Given the description of an element on the screen output the (x, y) to click on. 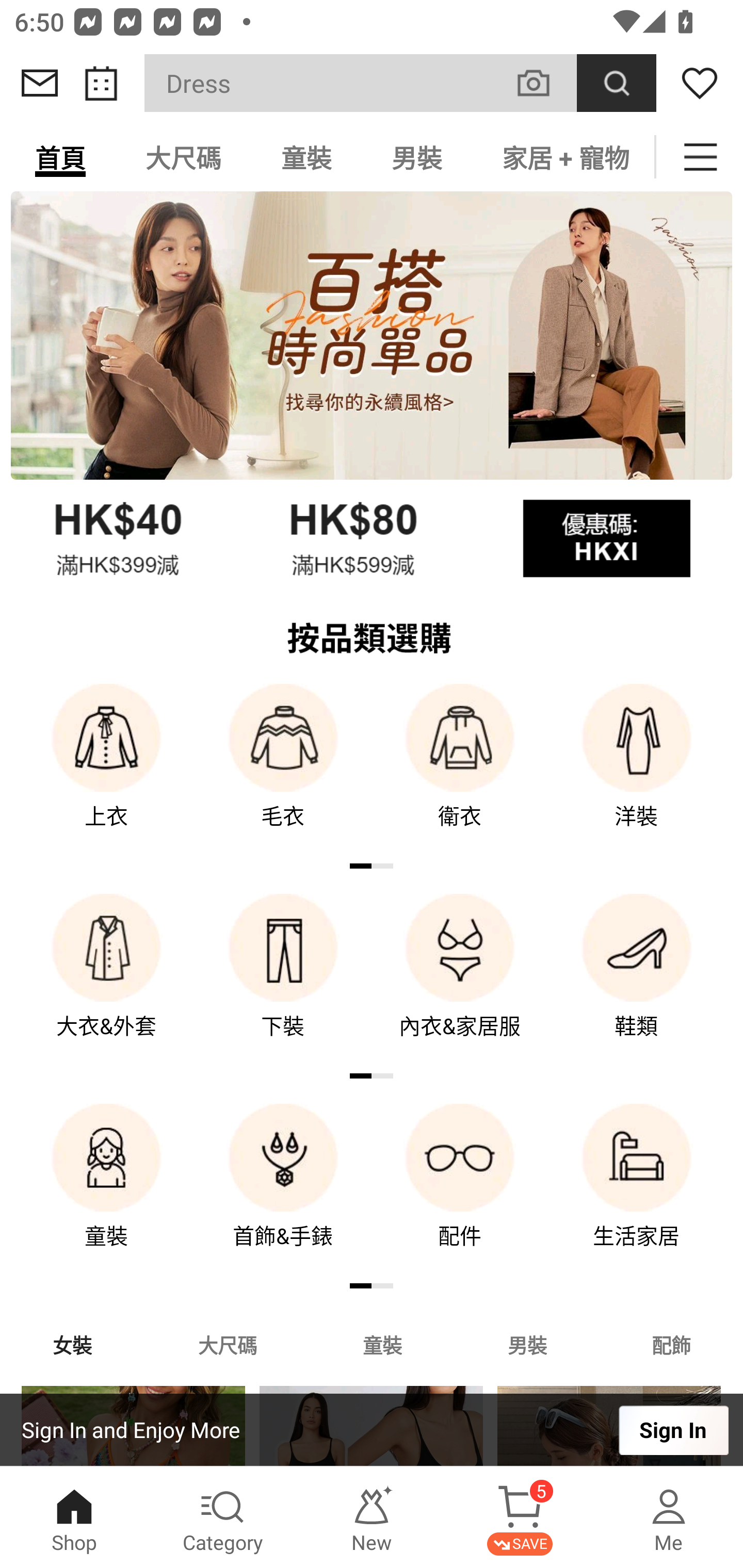
Wishlist (699, 82)
VISUAL SEARCH (543, 82)
首頁 (60, 156)
大尺碼 (183, 156)
童裝 (306, 156)
男裝 (416, 156)
家居 + 寵物 (563, 156)
上衣 (105, 769)
毛衣 (282, 769)
衛衣 (459, 769)
洋裝 (636, 769)
大衣&外套 (105, 979)
下裝 (282, 979)
內衣&家居服 (459, 979)
鞋類 (636, 979)
童裝 (105, 1189)
首飾&手錶 (282, 1189)
配件 (459, 1189)
生活家居 (636, 1189)
女裝 (72, 1344)
大尺碼 (226, 1344)
童裝 (381, 1344)
男裝 (527, 1344)
配飾 (671, 1344)
Sign In and Enjoy More Sign In (371, 1429)
Category (222, 1517)
New (371, 1517)
Cart 5 SAVE (519, 1517)
Me (668, 1517)
